Given the description of an element on the screen output the (x, y) to click on. 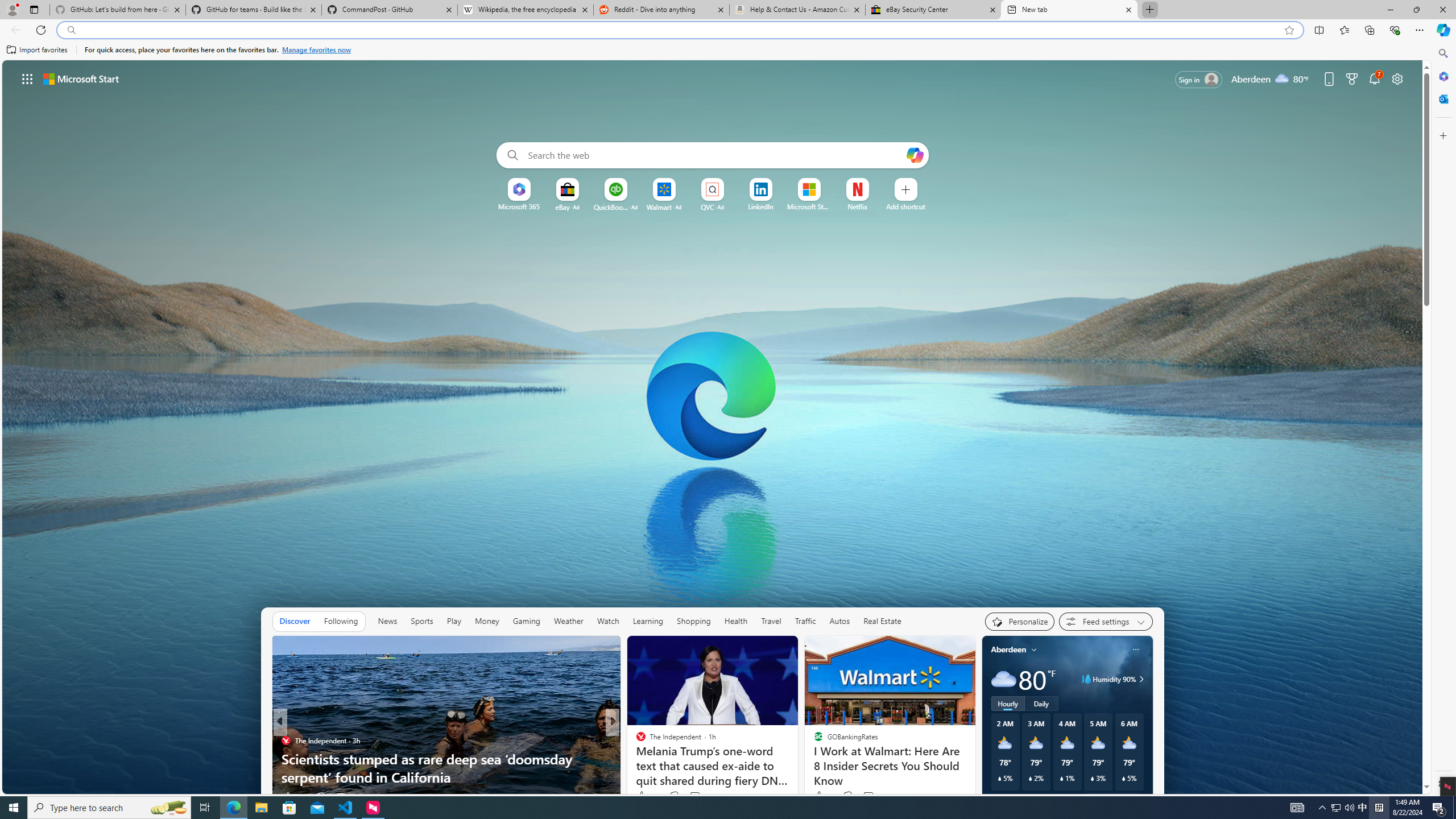
Newsweek (635, 740)
Microsoft start (81, 78)
LinkedIn (760, 206)
Bustle (635, 740)
